Given the description of an element on the screen output the (x, y) to click on. 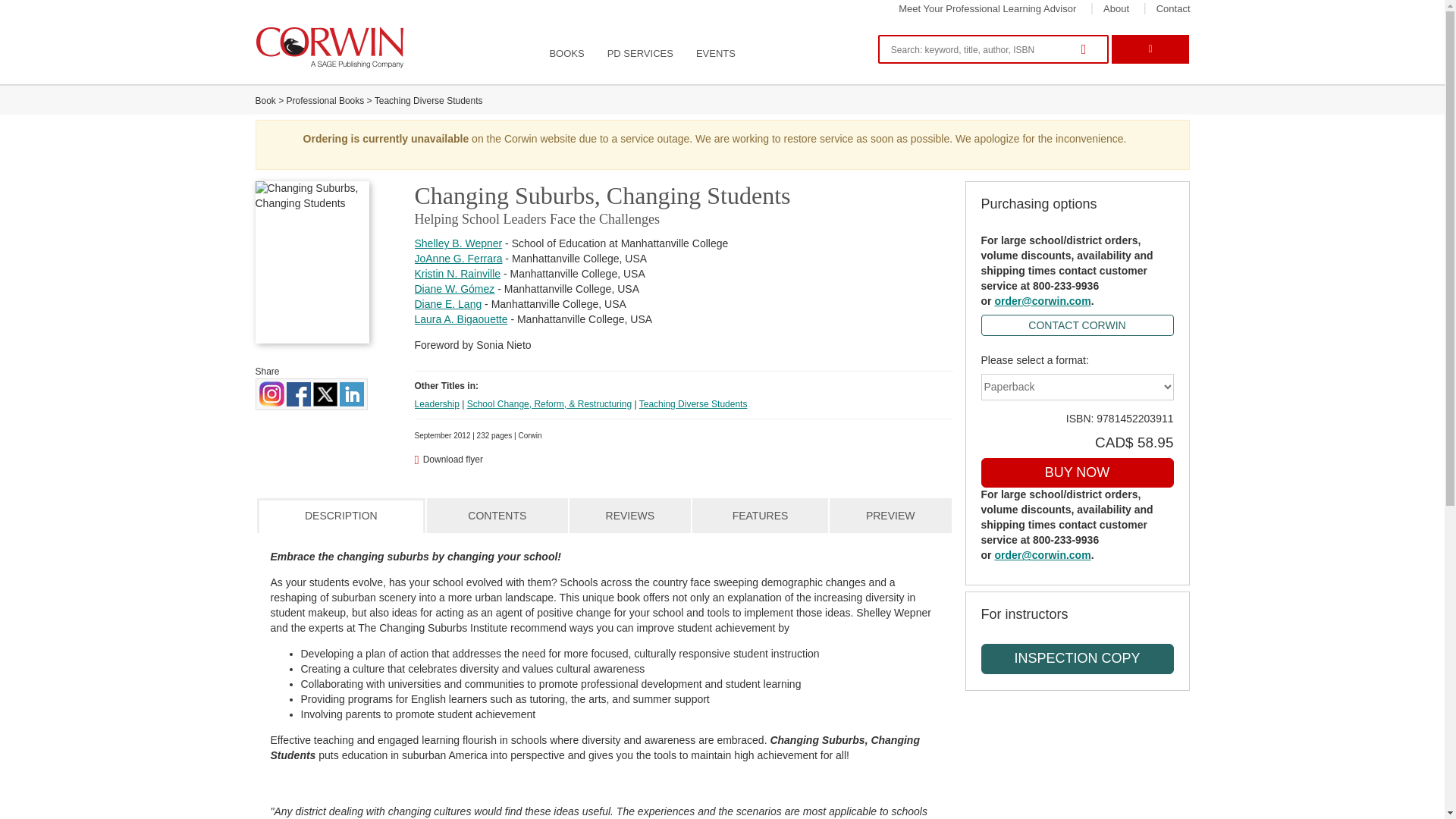
Search (1087, 50)
Home (330, 47)
BOOKS (566, 53)
Meet Your Professional Learning Advisor (986, 8)
Buy now (1077, 472)
About (1116, 8)
Inspection Copy (1077, 658)
Contact (1173, 8)
